Given the description of an element on the screen output the (x, y) to click on. 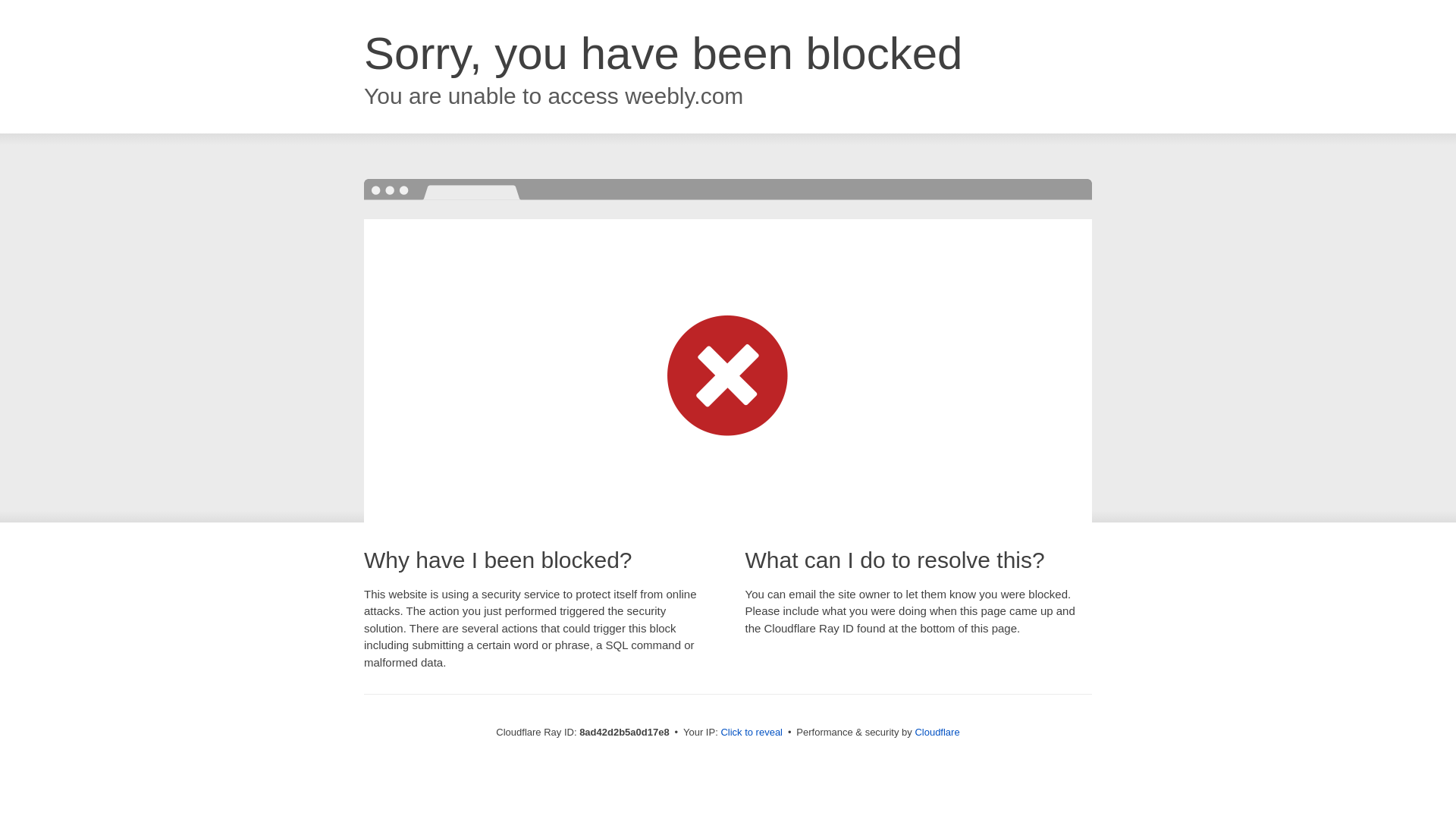
Click to reveal (751, 732)
Cloudflare (936, 731)
